Given the description of an element on the screen output the (x, y) to click on. 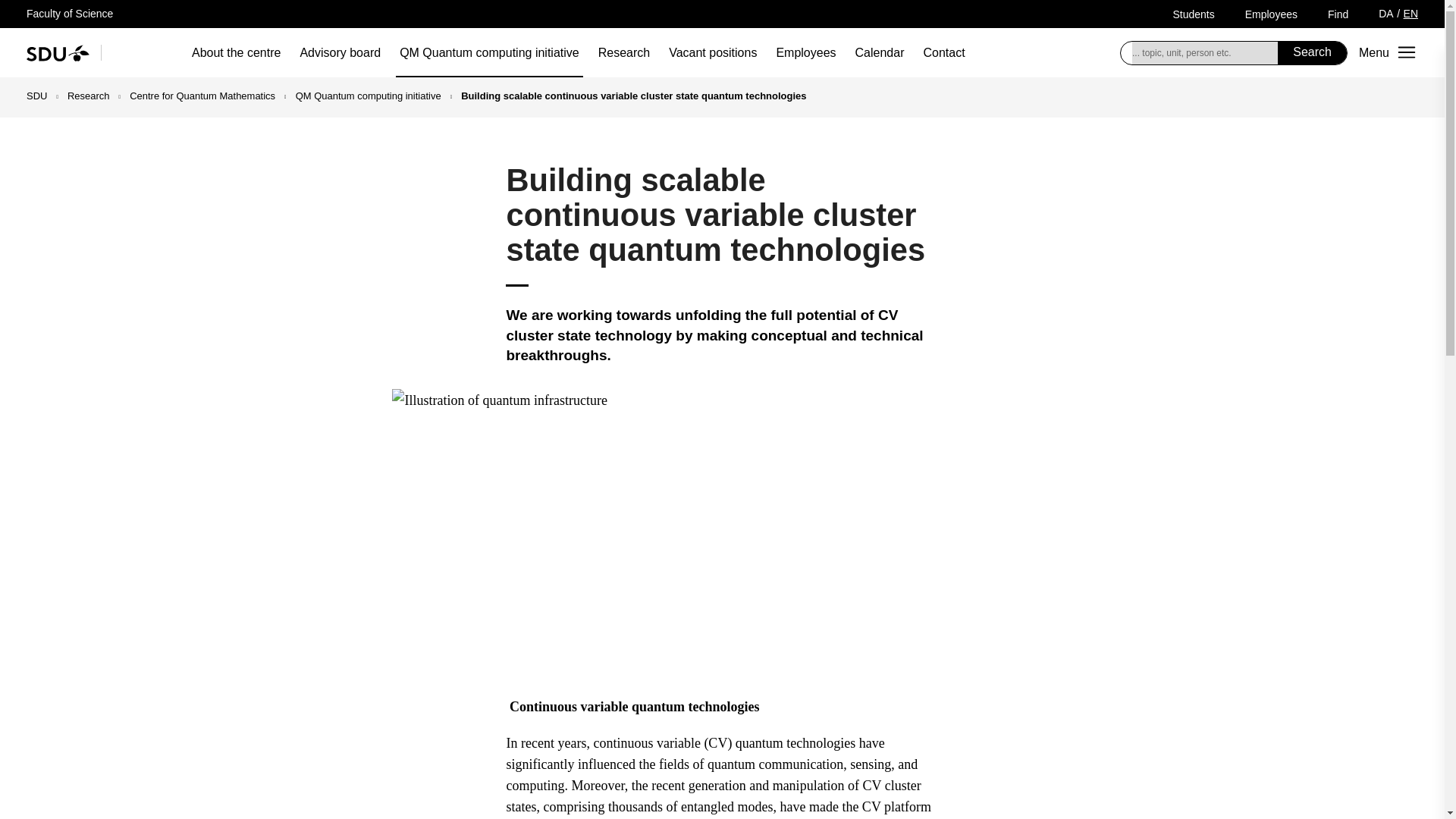
Employees (1270, 13)
Faculty of Science (69, 13)
EN (1410, 13)
Find (1337, 13)
DA (1385, 13)
University of Southern Denmark, SDU (57, 52)
Students (1193, 13)
